Given the description of an element on the screen output the (x, y) to click on. 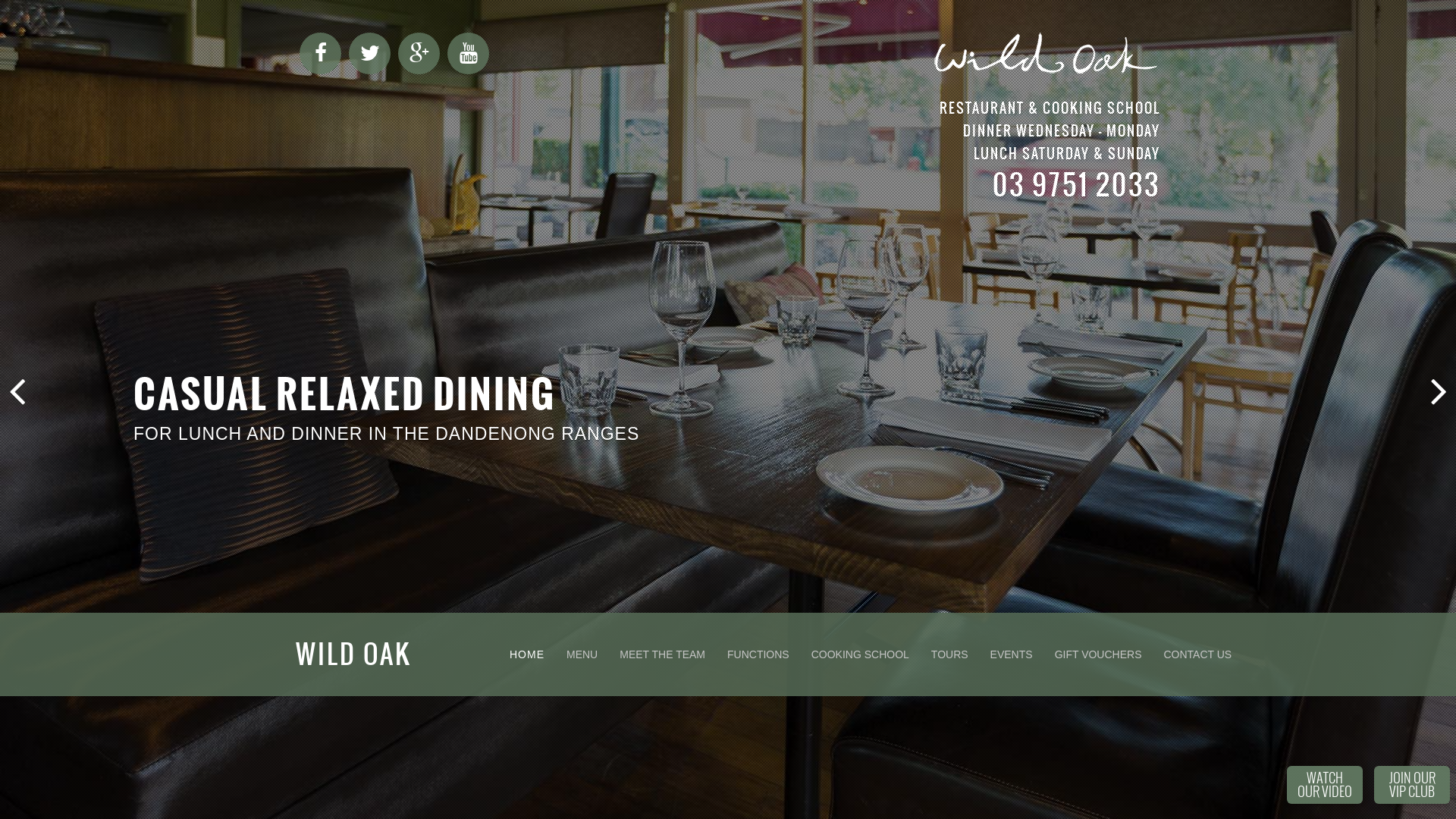
COOKING SCHOOL Element type: text (860, 654)
MEET THE TEAM Element type: text (662, 654)
GIFT VOUCHERS Element type: text (1098, 654)
EVENTS Element type: text (1011, 654)
FUNCTIONS Element type: text (758, 654)
WATCH
OUR VIDEO Element type: text (1324, 784)
MENU Element type: text (581, 654)
CONTACT US Element type: text (1197, 654)
WILD OAK Element type: text (397, 654)
JOIN OUR
VIP CLUB Element type: text (1411, 784)
TOURS Element type: text (949, 654)
